Given the description of an element on the screen output the (x, y) to click on. 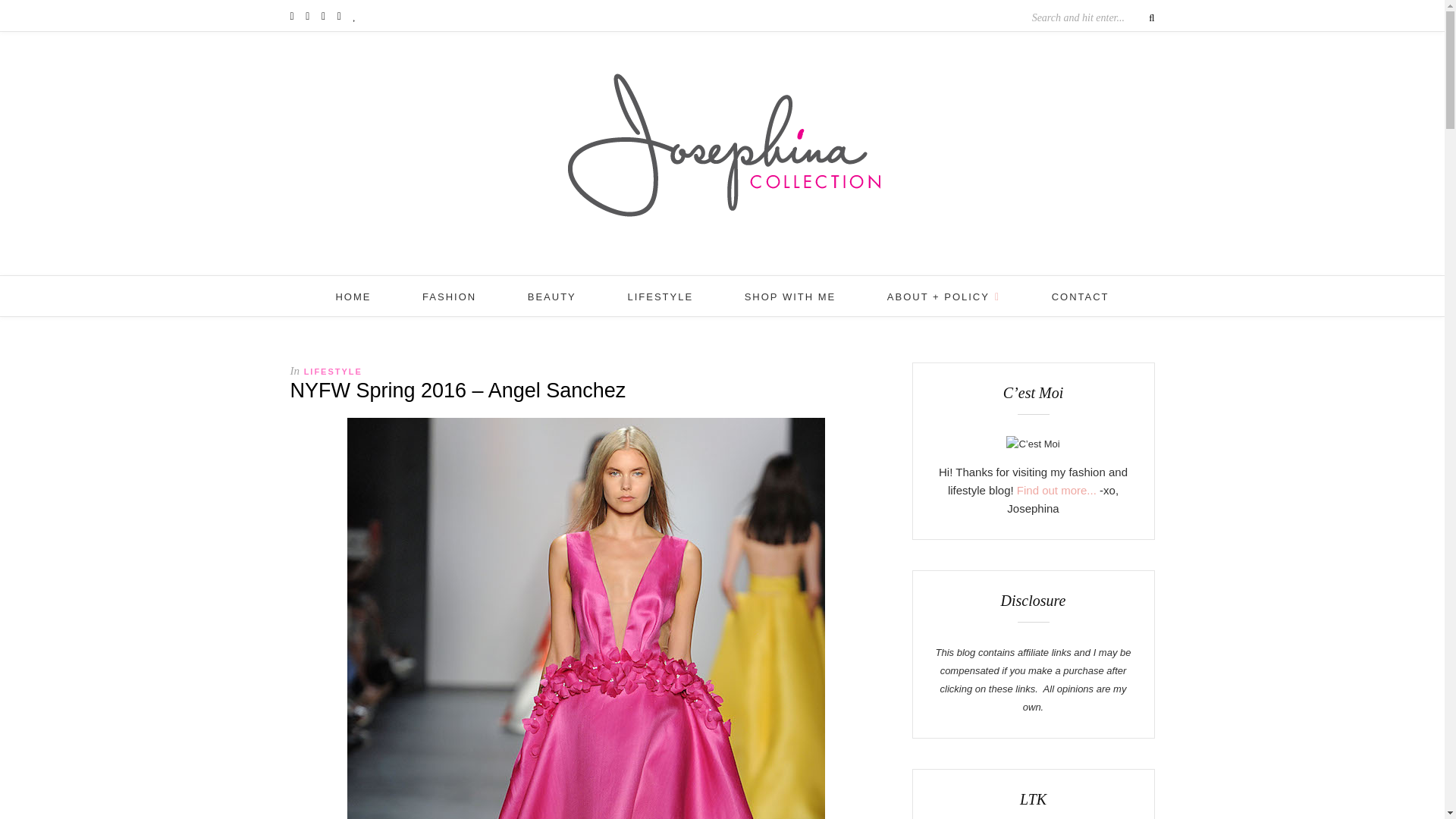
FASHION (449, 296)
LIFESTYLE (333, 370)
CONTACT (1080, 296)
BEAUTY (551, 296)
LIFESTYLE (660, 296)
SHOP WITH ME (789, 296)
